Given the description of an element on the screen output the (x, y) to click on. 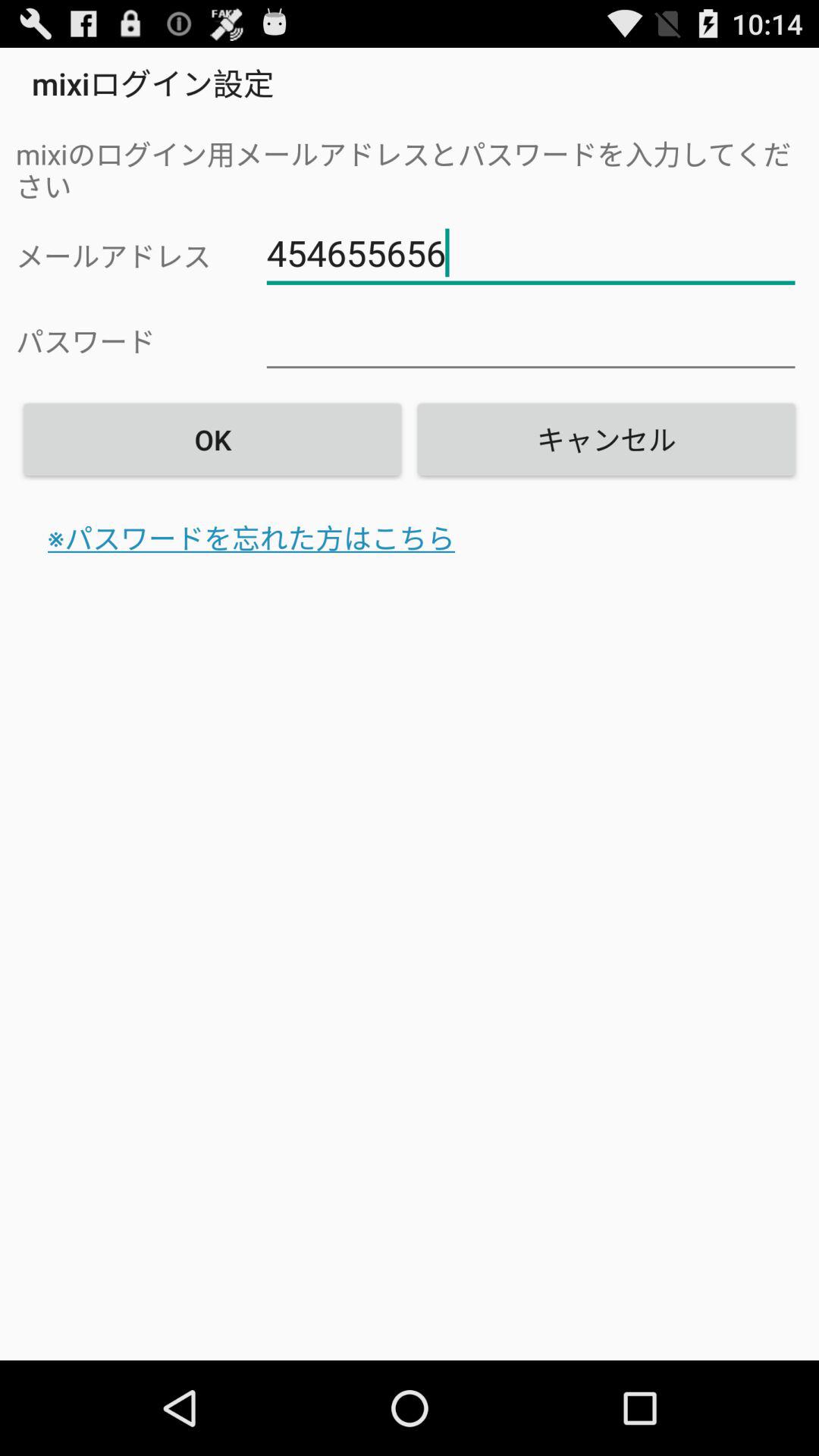
launch icon next to ok icon (606, 439)
